Given the description of an element on the screen output the (x, y) to click on. 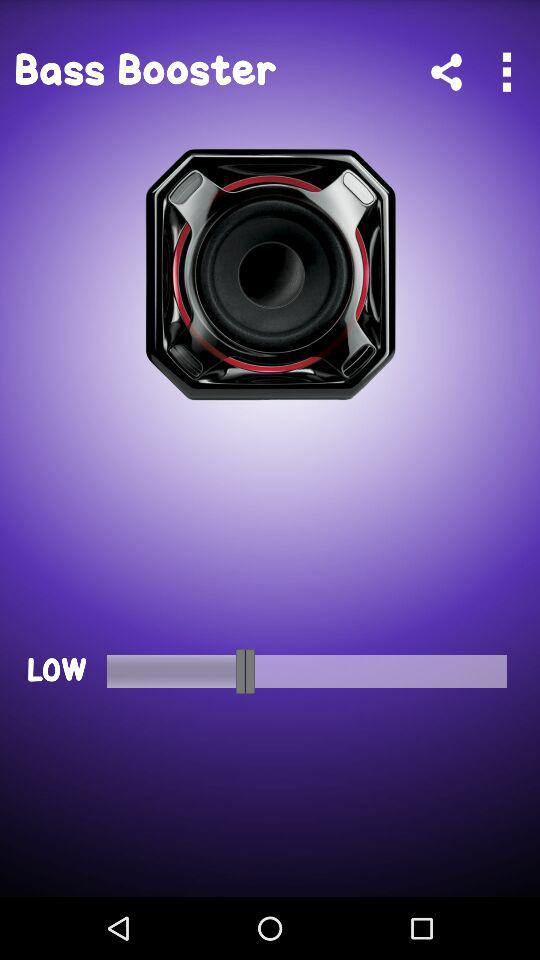
options menu (506, 72)
